Given the description of an element on the screen output the (x, y) to click on. 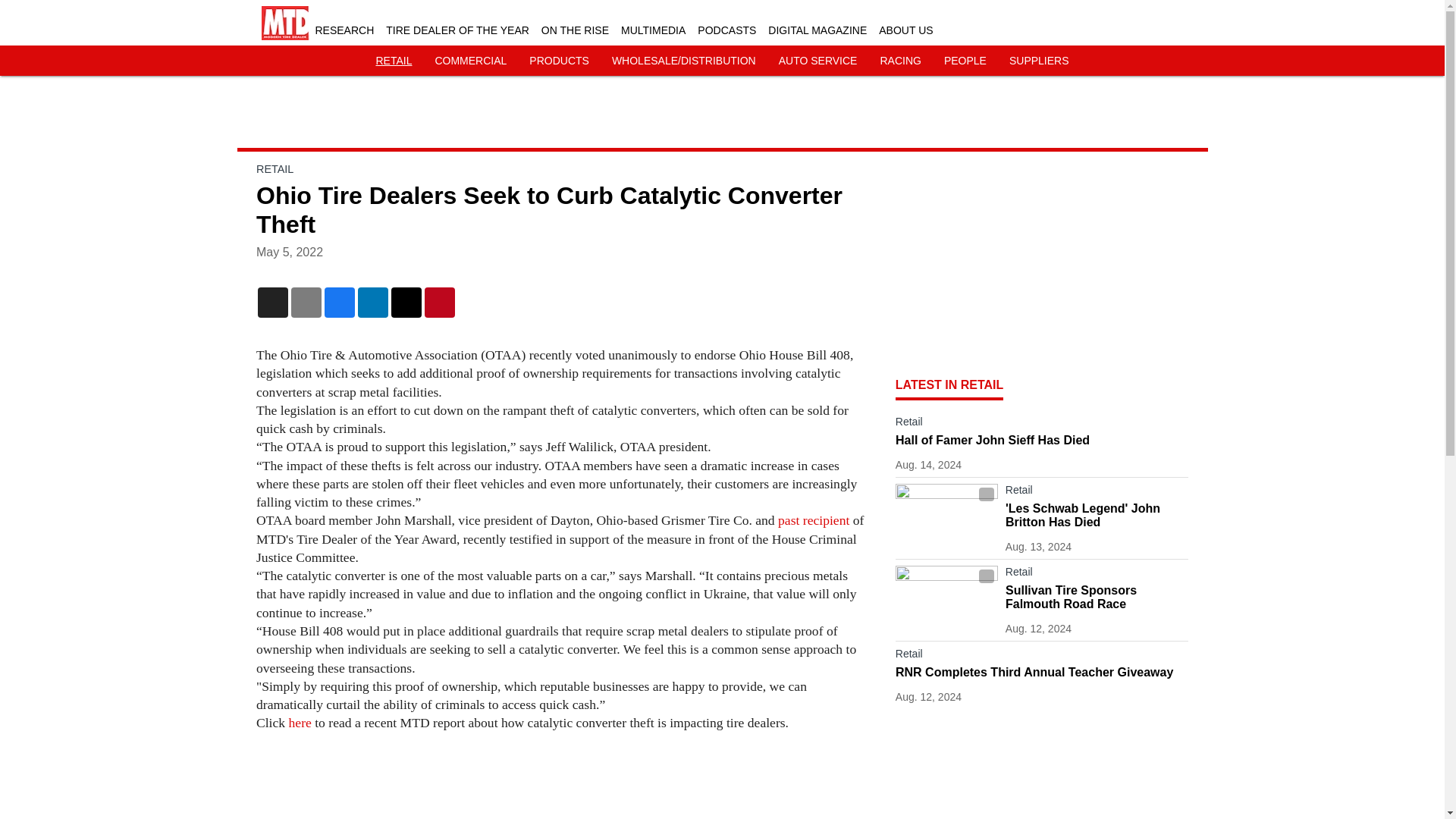
COMMERCIAL (469, 60)
Hall of Famer John Sieff Has Died (1042, 440)
SUPPLIERS (1038, 60)
Retail (1042, 424)
PODCASTS (726, 30)
PRODUCTS (559, 60)
RNR Completes Third Annual Teacher Giveaway (1042, 672)
ON THE RISE (574, 30)
AUTO SERVICE (817, 60)
Retail (1097, 493)
